Given the description of an element on the screen output the (x, y) to click on. 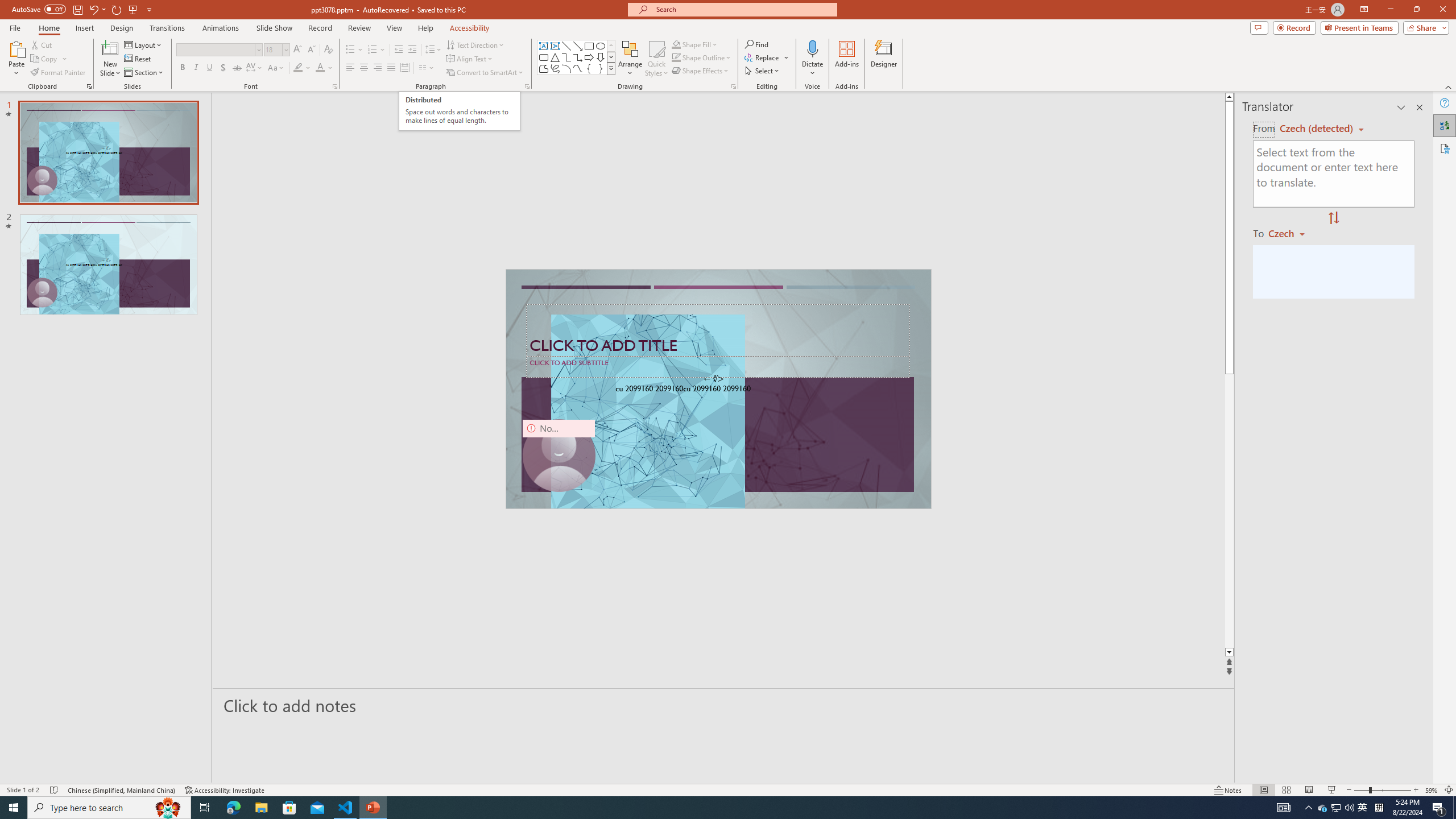
TextBox 7 (713, 378)
